Given the description of an element on the screen output the (x, y) to click on. 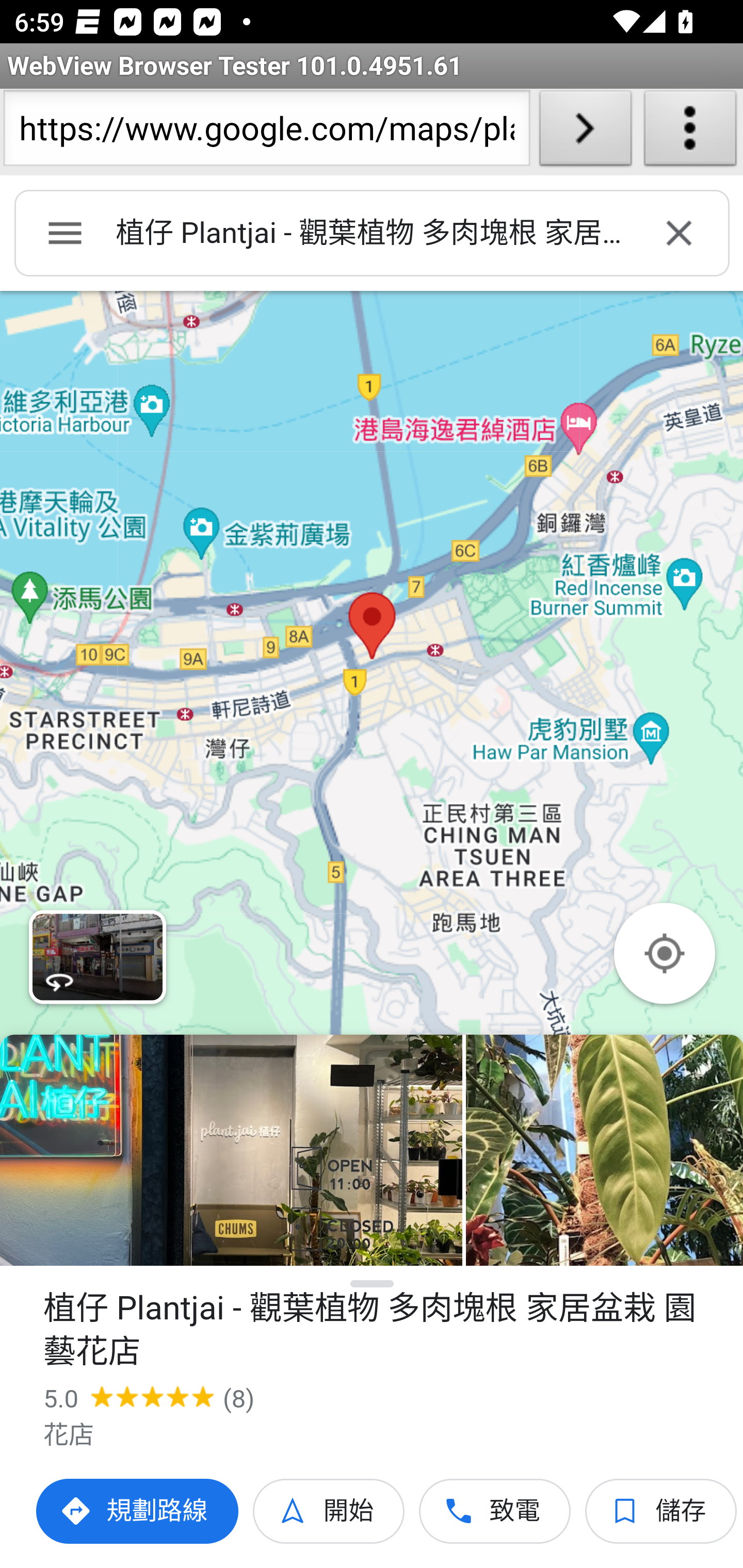
Load URL (585, 132)
About WebView (690, 132)
第 1 張相片 (共 9 張) (231, 1149)
第 2 張相片 (共 9 張) (604, 1149)
顯示詳細資料 (372, 1284)
前往植仔 Plantjai - 觀葉植物 多肉塊根 家居盆栽 園藝花店的路線 (137, 1511)
開始 (329, 1511)
致電「植仔 Plantjai - 觀葉植物 多肉塊根 家居盆栽 園藝花店」  致電 (495, 1511)
將「植仔 Plantjai - 觀葉植物 多肉塊根 家居盆栽 園藝花店」儲存至清單中 (661, 1511)
